Given the description of an element on the screen output the (x, y) to click on. 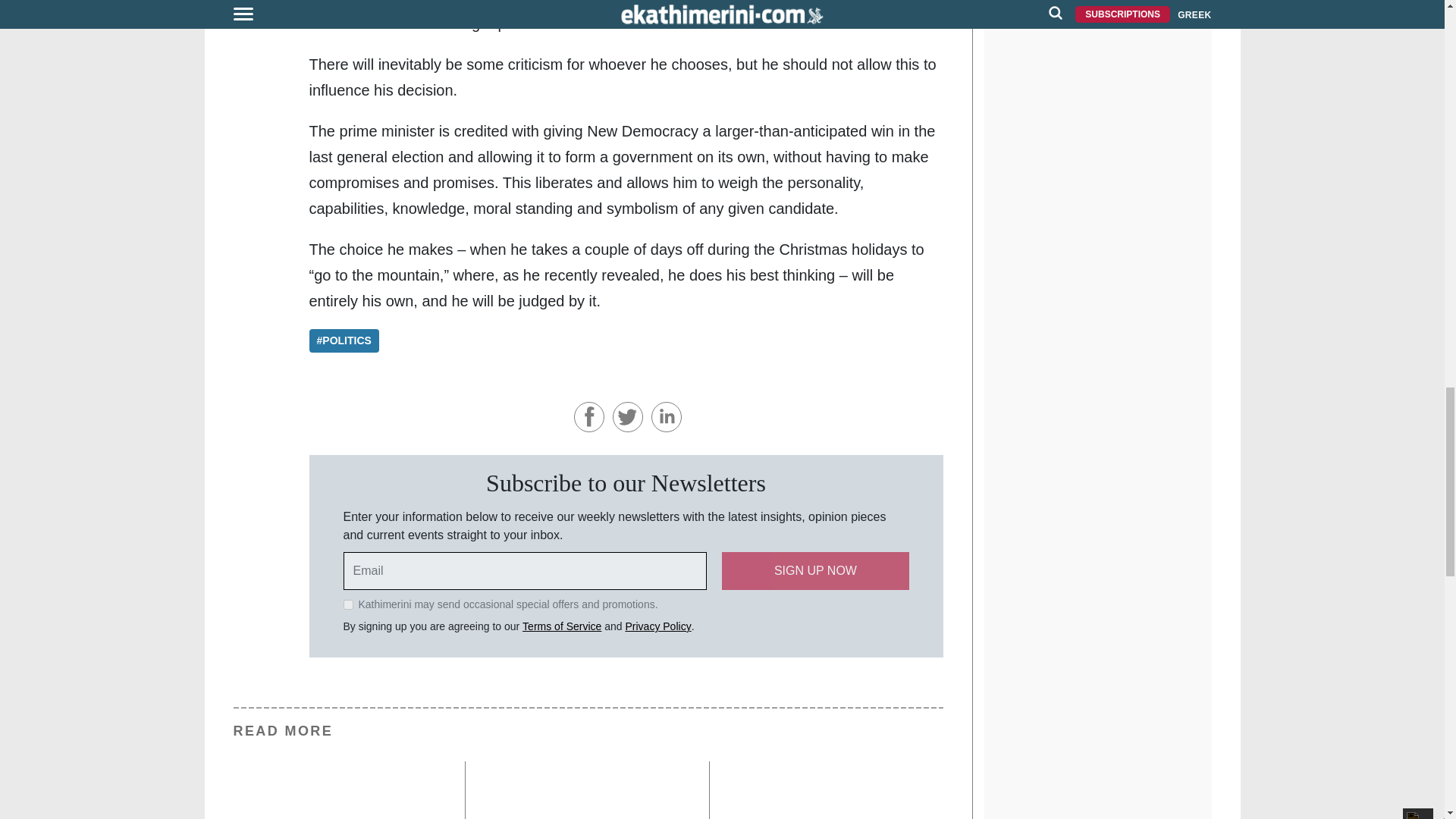
on (347, 604)
